Given the description of an element on the screen output the (x, y) to click on. 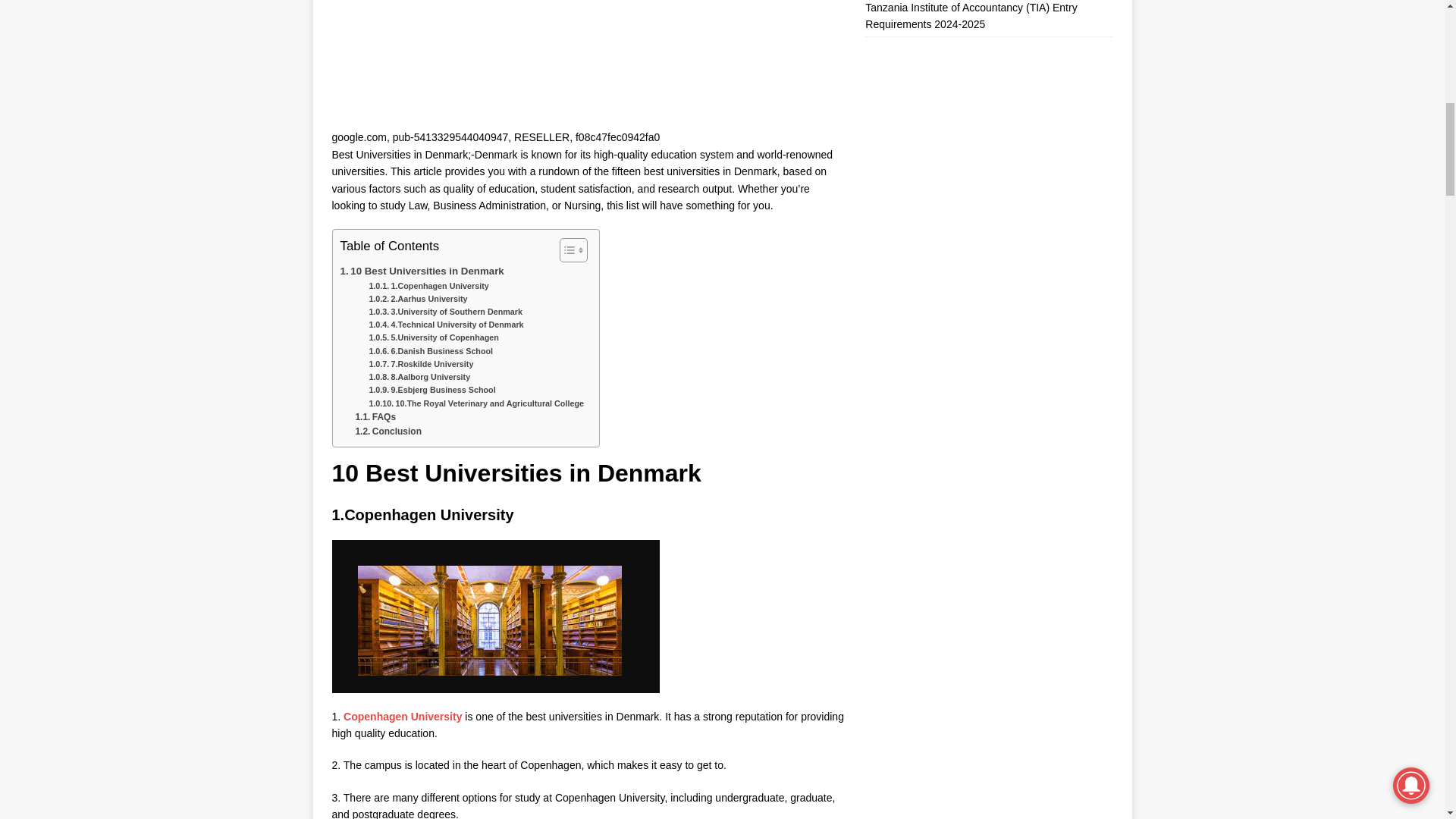
1.Copenhagen University (427, 286)
2.Aarhus University (417, 298)
10 Best Universities in Denmark (421, 270)
